Given the description of an element on the screen output the (x, y) to click on. 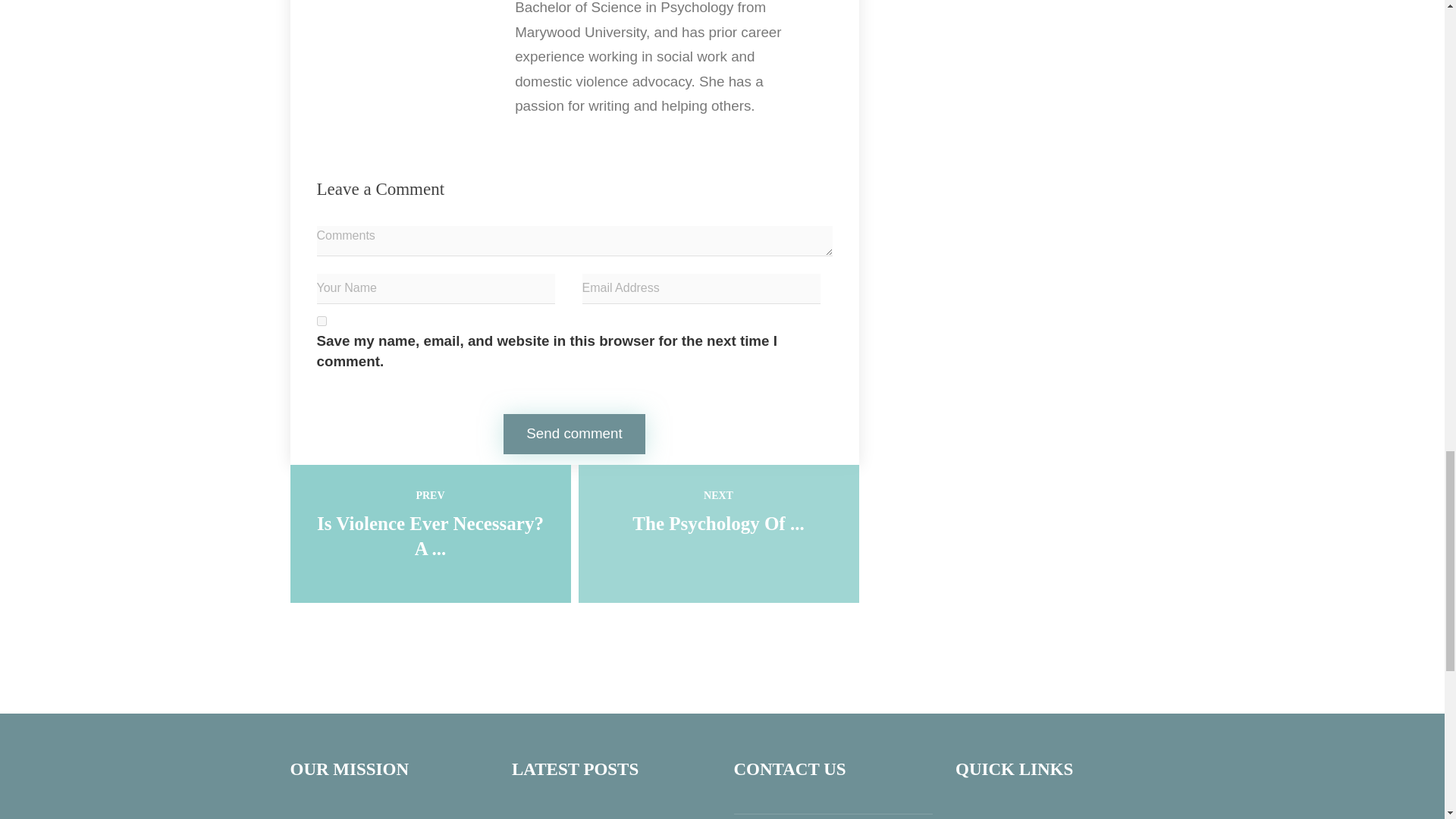
Send comment (574, 434)
yes (321, 320)
